Given the description of an element on the screen output the (x, y) to click on. 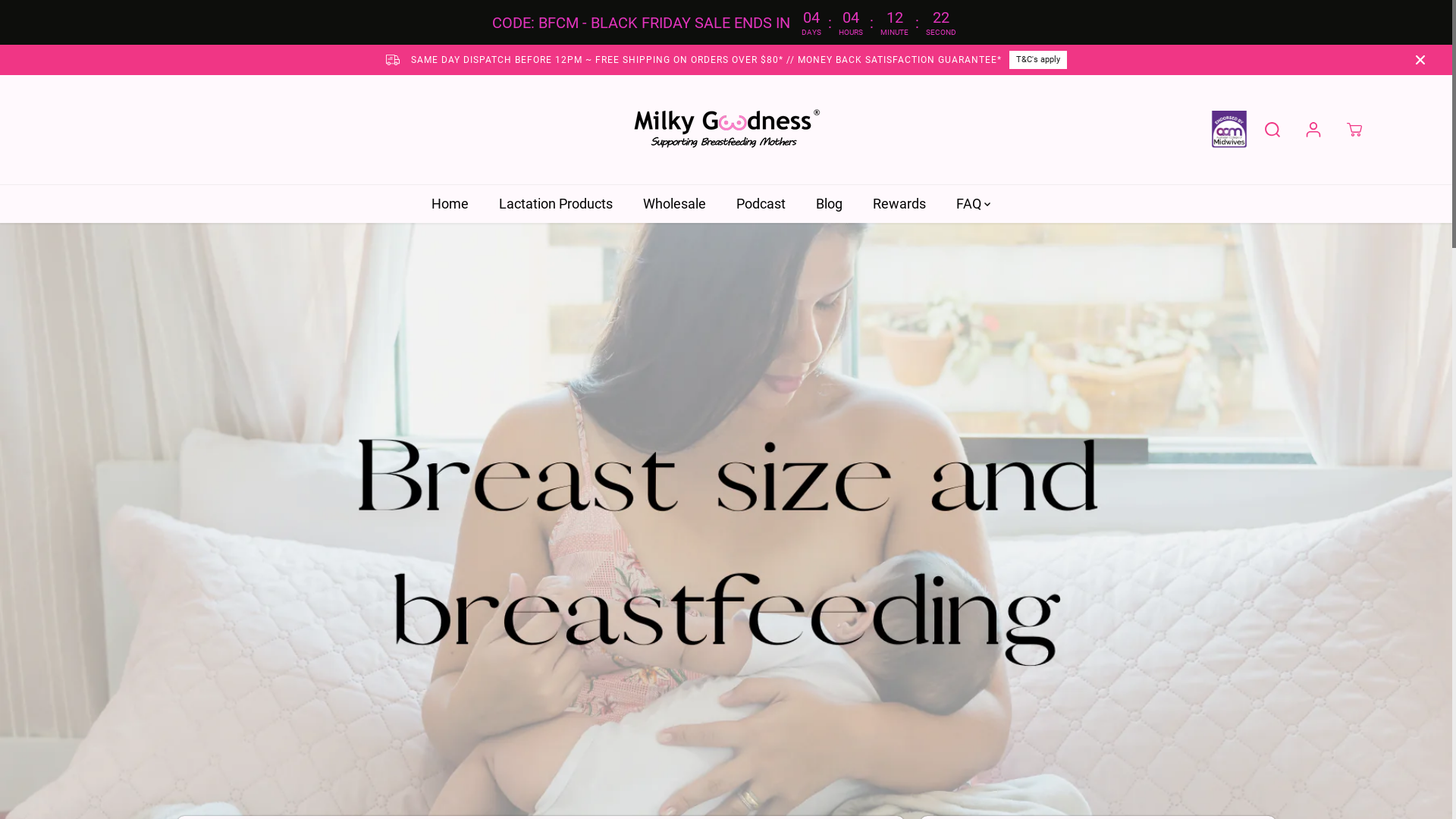
Home Element type: text (461, 203)
Cart Element type: hover (1354, 129)
Rewards Element type: text (910, 203)
Lactation Products Element type: text (566, 203)
Wholesale Element type: text (685, 203)
T&C's apply Element type: text (1348, 59)
Log in Element type: hover (1313, 129)
Blog Element type: text (840, 203)
Podcast Element type: text (772, 203)
Search Element type: hover (1272, 129)
